Given the description of an element on the screen output the (x, y) to click on. 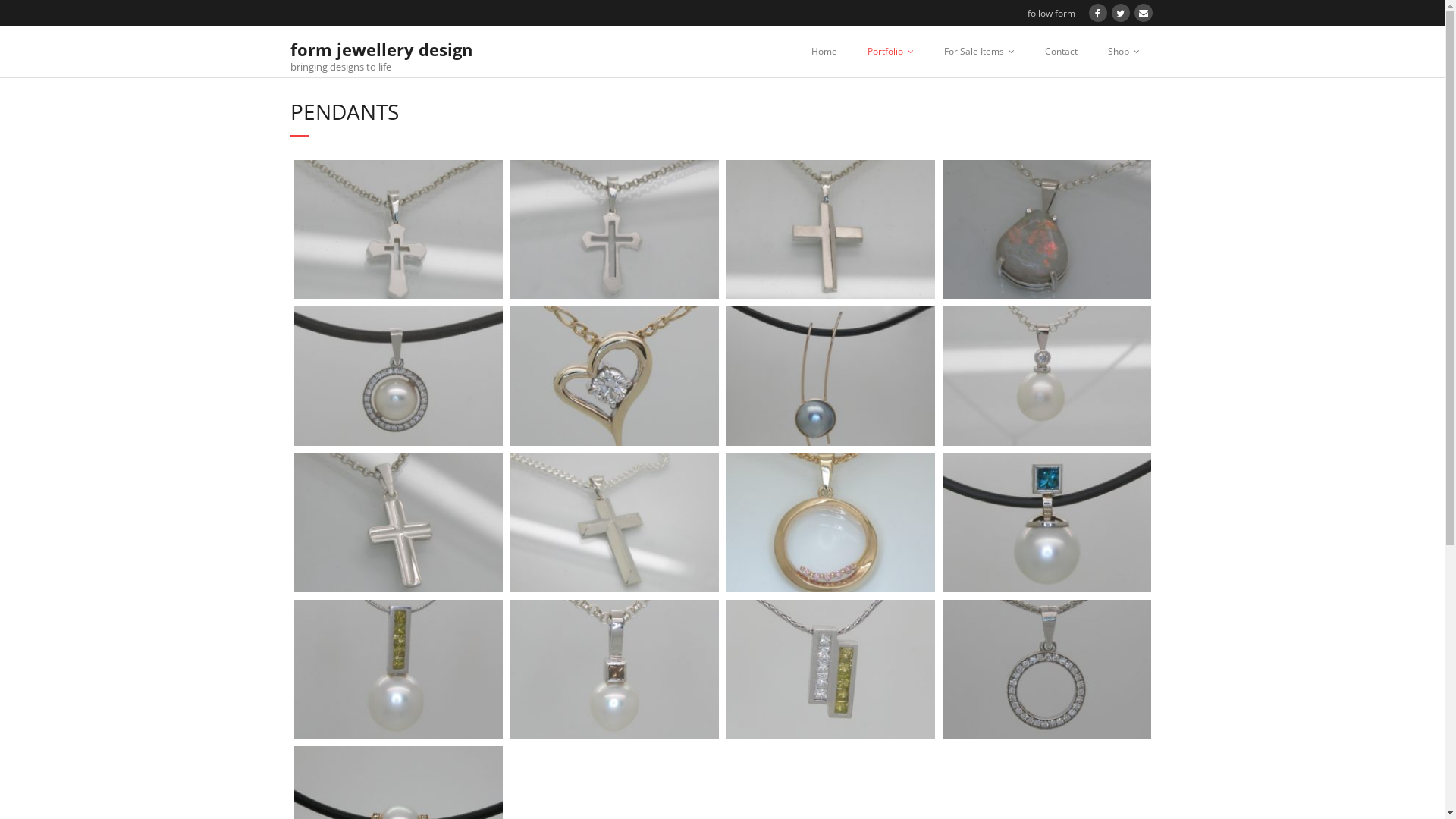
PENDANT Element type: text (621, 645)
PYRAMID CROSS Element type: text (405, 499)
PEARL PENDANT Element type: text (188, 792)
PEARL PENDANT Element type: text (188, 645)
PEARL PENDANT Element type: text (405, 645)
OPAL PENDANT Element type: text (838, 205)
PIERCED CROSS Element type: text (188, 205)
CONCAVE CROSS Element type: text (188, 499)
form jewellery design
bringing designs to life Element type: text (380, 52)
Shop Element type: text (1123, 51)
PEARL DIAMOND CIRCLE PENDANT Element type: text (188, 352)
Home Element type: text (824, 51)
For Sale Items Element type: text (978, 51)
PENDANT Element type: text (621, 499)
Contact Element type: text (1060, 51)
TWO PIECE CROSS Element type: text (621, 205)
Portfolio Element type: text (890, 51)
PIERCED CROSS Element type: text (405, 205)
PEARL PENDANT Element type: text (838, 499)
FILIGREE HEART PENDANT Element type: text (405, 352)
MABE PEARL PENDANT Element type: text (621, 352)
CIRCLE PENDANT Element type: text (838, 645)
PEARL DIAMOND PENDANT Element type: text (838, 352)
